Given the description of an element on the screen output the (x, y) to click on. 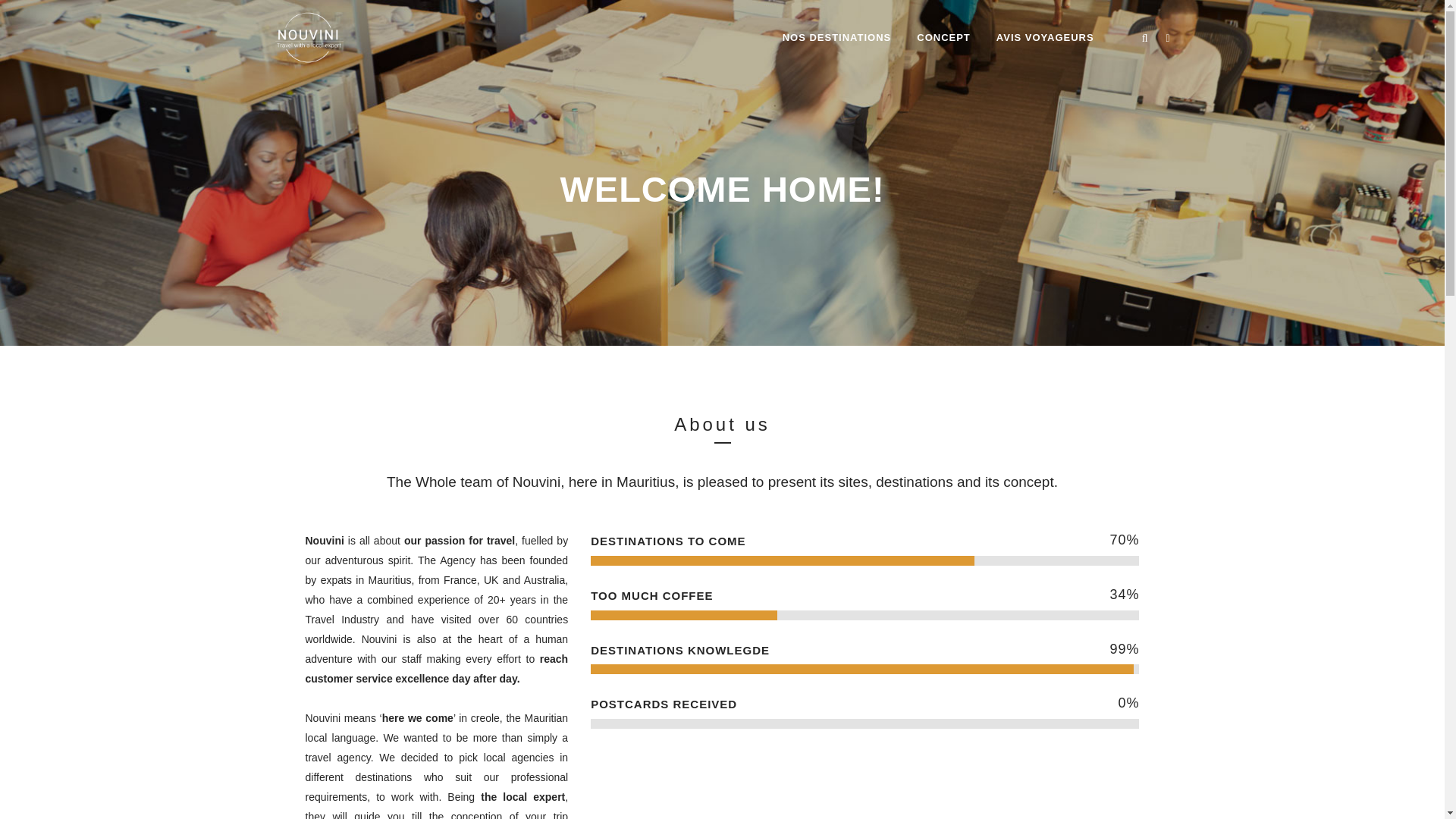
CONCEPT (944, 38)
NOS DESTINATIONS (837, 38)
AVIS VOYAGEURS (1045, 38)
